Given the description of an element on the screen output the (x, y) to click on. 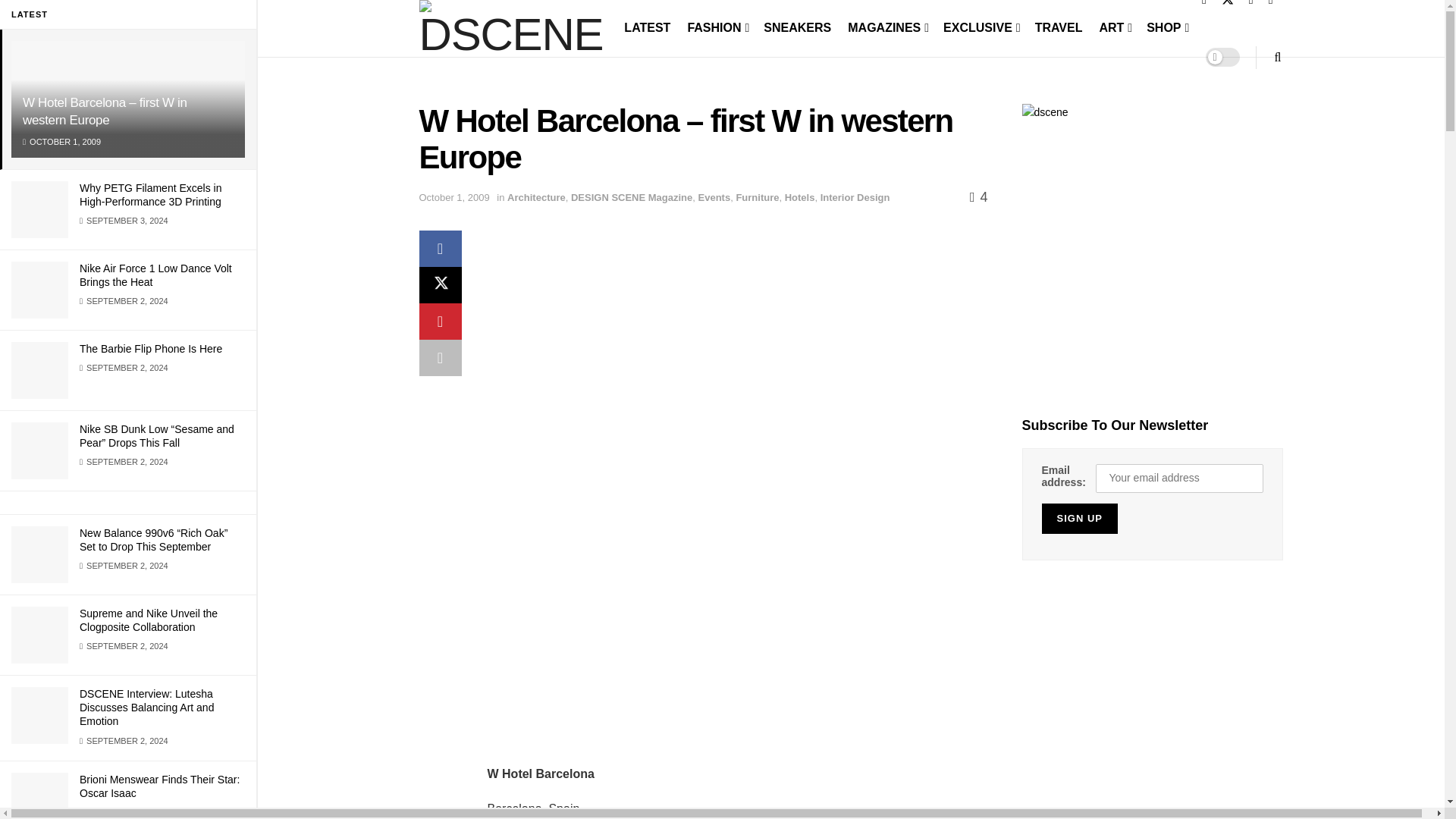
Why PETG Filament Excels in High-Performance 3D Printing (151, 194)
Nike Air Force 1 Low Dance Volt Brings the Heat (155, 275)
FASHION (716, 27)
The Barbie Flip Phone Is Here (151, 348)
Sign up (1080, 518)
Supreme and Nike Unveil the Clogposite Collaboration (148, 620)
LATEST (646, 27)
Brioni Menswear Finds Their Star: Oscar Isaac (160, 786)
